Given the description of an element on the screen output the (x, y) to click on. 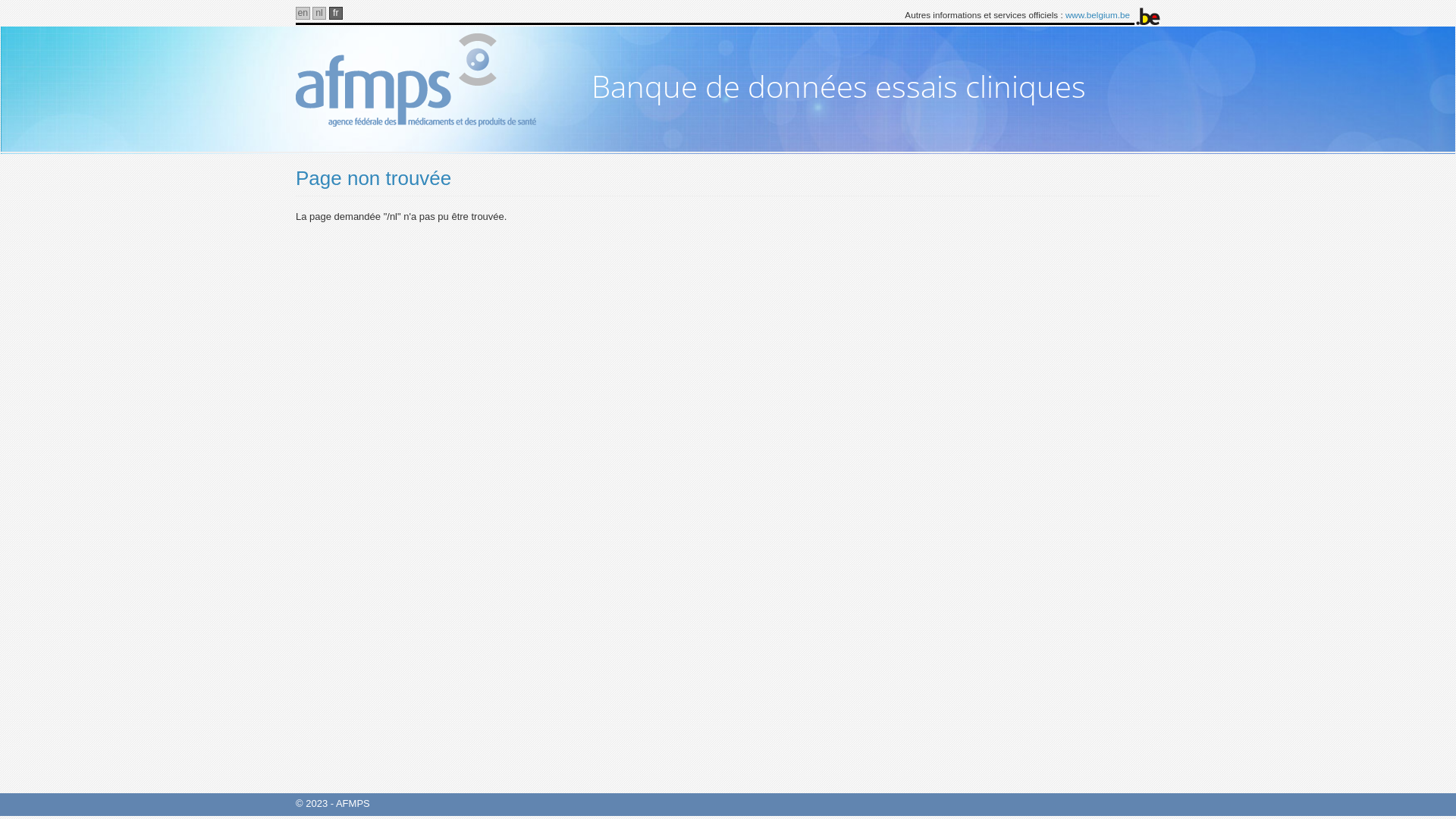
www.belgium.be
(externe link) Element type: text (1097, 14)
Accueil Element type: hover (429, 80)
nl Element type: text (319, 12)
en Element type: text (302, 12)
fr Element type: text (336, 12)
Aller au contenu principal Element type: text (0, 0)
